Given the description of an element on the screen output the (x, y) to click on. 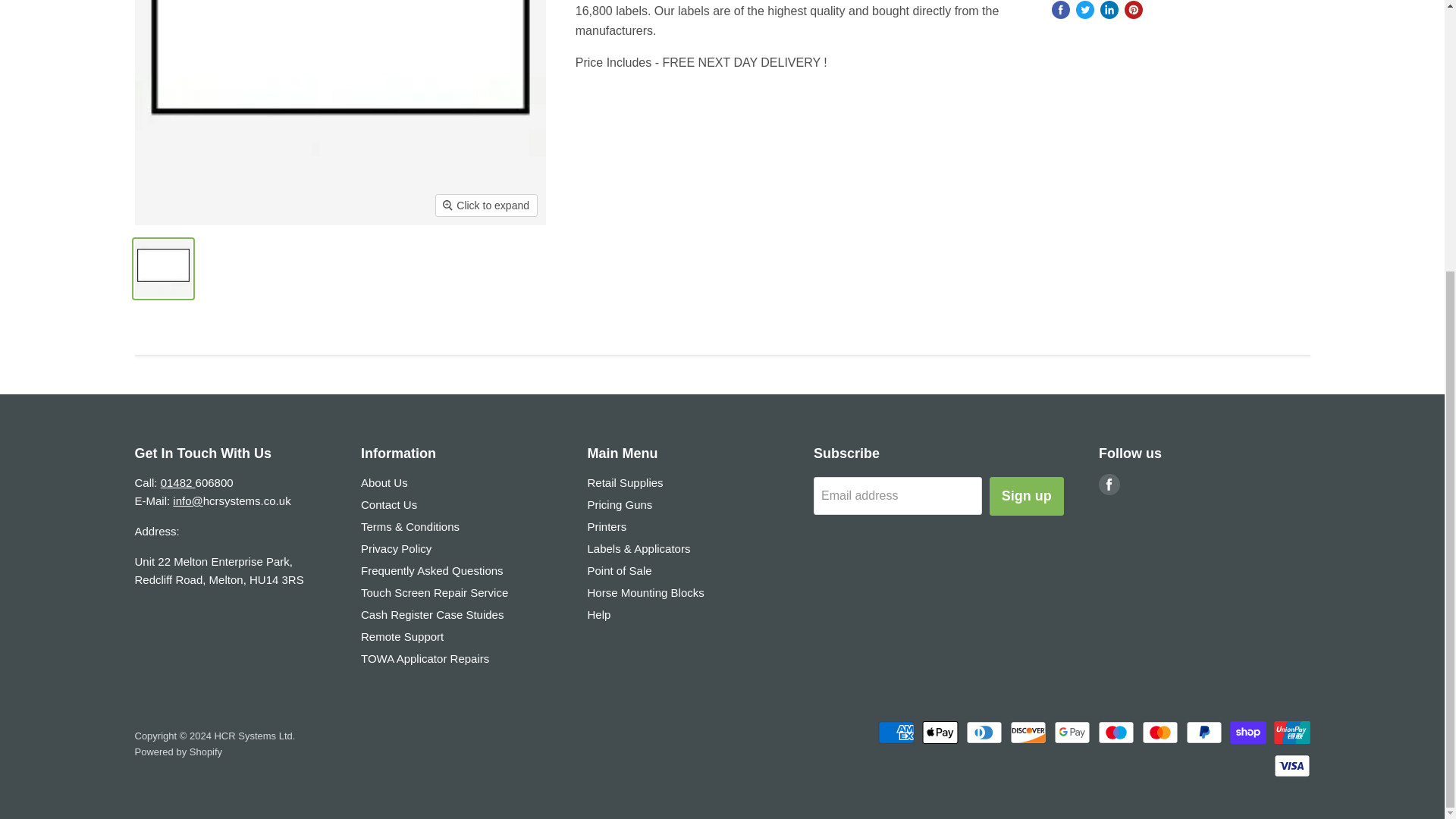
tel:01482 606800 (177, 481)
Facebook (1109, 483)
